Given the description of an element on the screen output the (x, y) to click on. 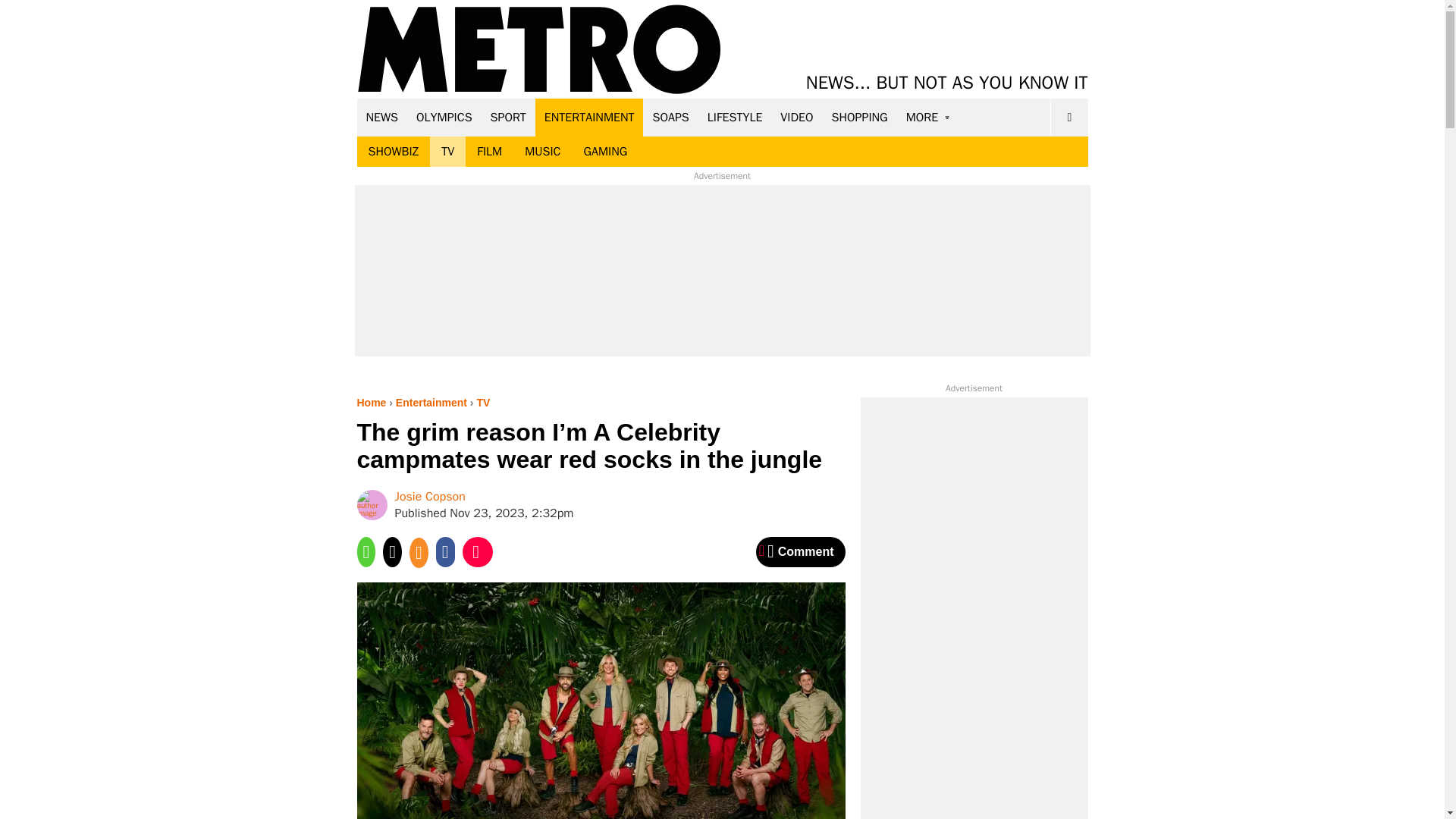
MUSIC (542, 151)
SPORT (508, 117)
ENTERTAINMENT (589, 117)
SOAPS (670, 117)
FILM (489, 151)
Metro (539, 50)
LIFESTYLE (734, 117)
OLYMPICS (444, 117)
TV (447, 151)
NEWS (381, 117)
